Given the description of an element on the screen output the (x, y) to click on. 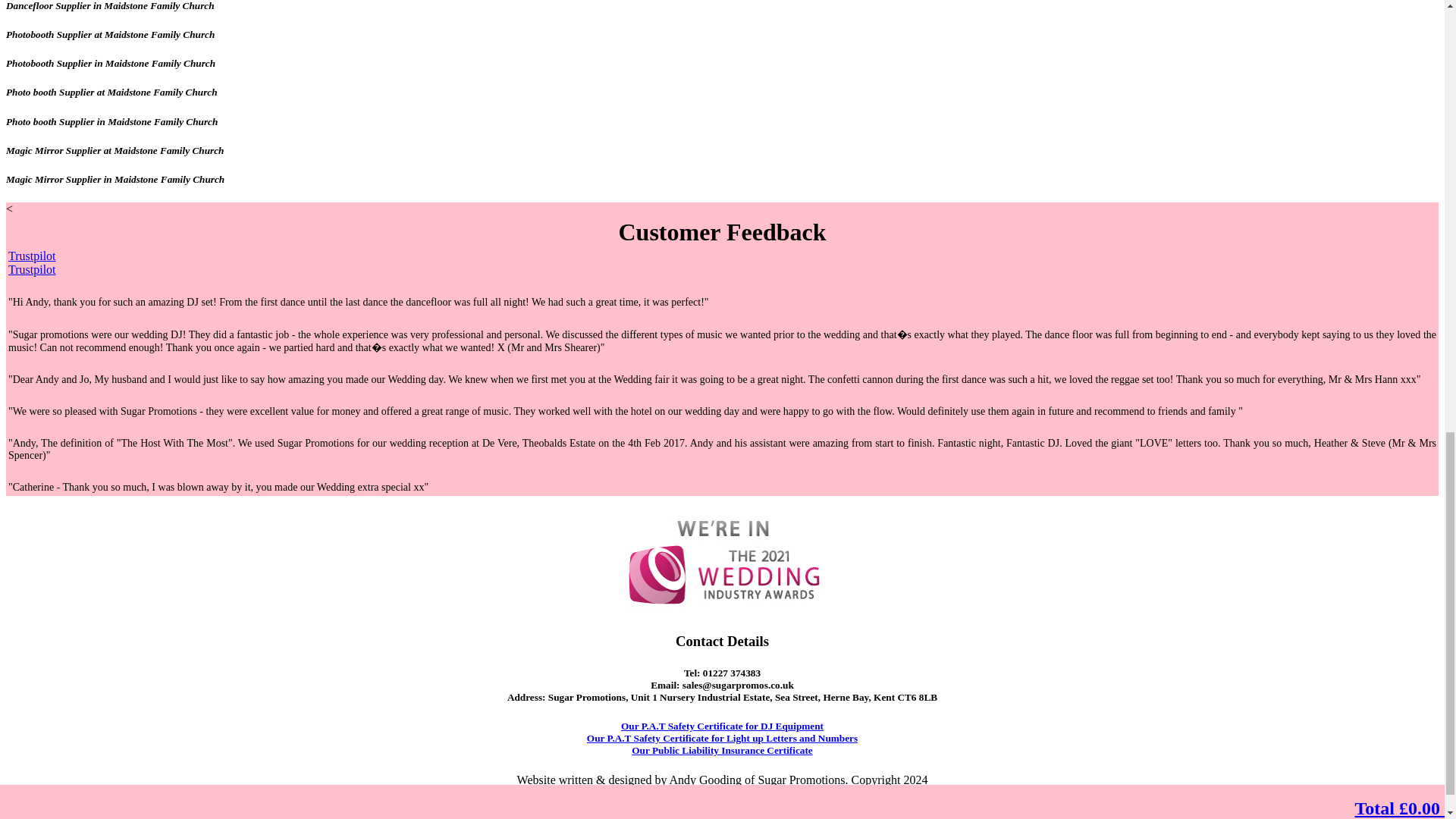
Our P.A.T Safety Certificate for DJ Equipment (722, 726)
Trustpilot (32, 269)
Trustpilot (32, 255)
Our Public Liability Insurance Certificate (721, 749)
